Given the description of an element on the screen output the (x, y) to click on. 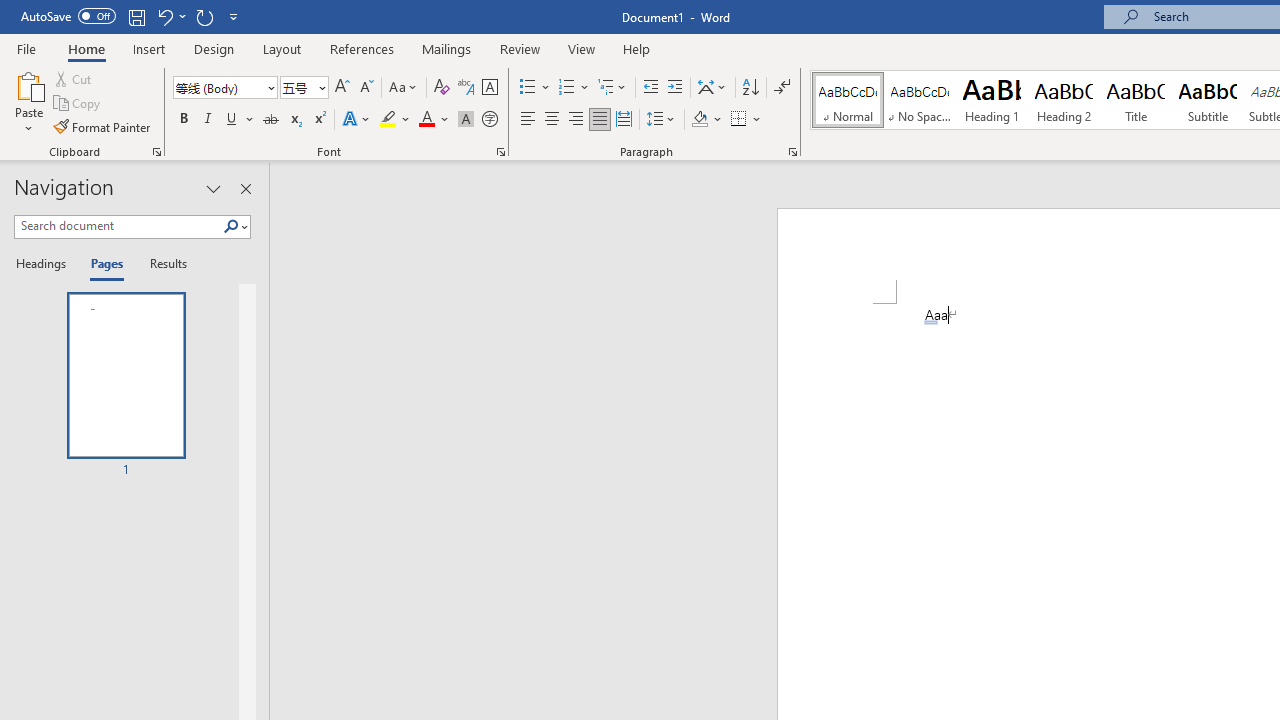
Heading 2 (1063, 100)
Action: Undo Auto Actions (931, 321)
Quick Access Toolbar (131, 16)
More Options (757, 119)
Paste (28, 84)
Font (218, 87)
Paragraph... (792, 151)
Decrease Indent (650, 87)
Align Left (527, 119)
Open (320, 87)
Font Color Red (426, 119)
Italic (207, 119)
